Given the description of an element on the screen output the (x, y) to click on. 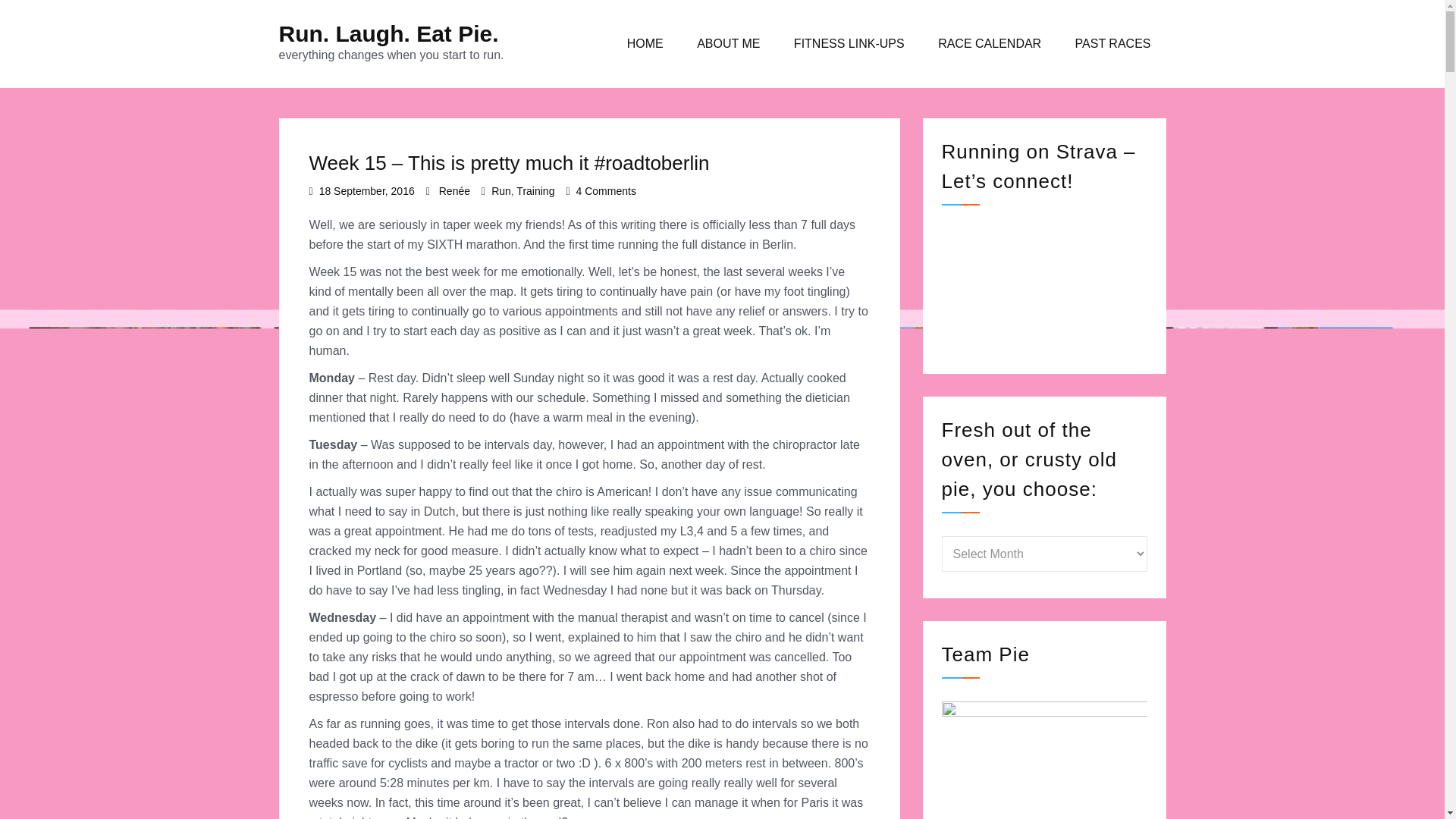
FITNESS LINK-UPS (849, 43)
ABOUT ME (727, 43)
Training (535, 191)
PAST RACES (1112, 43)
Run. Laugh. Eat Pie. (389, 33)
18 September, 2016 (366, 191)
Run (501, 191)
RACE CALENDAR (990, 43)
